Given the description of an element on the screen output the (x, y) to click on. 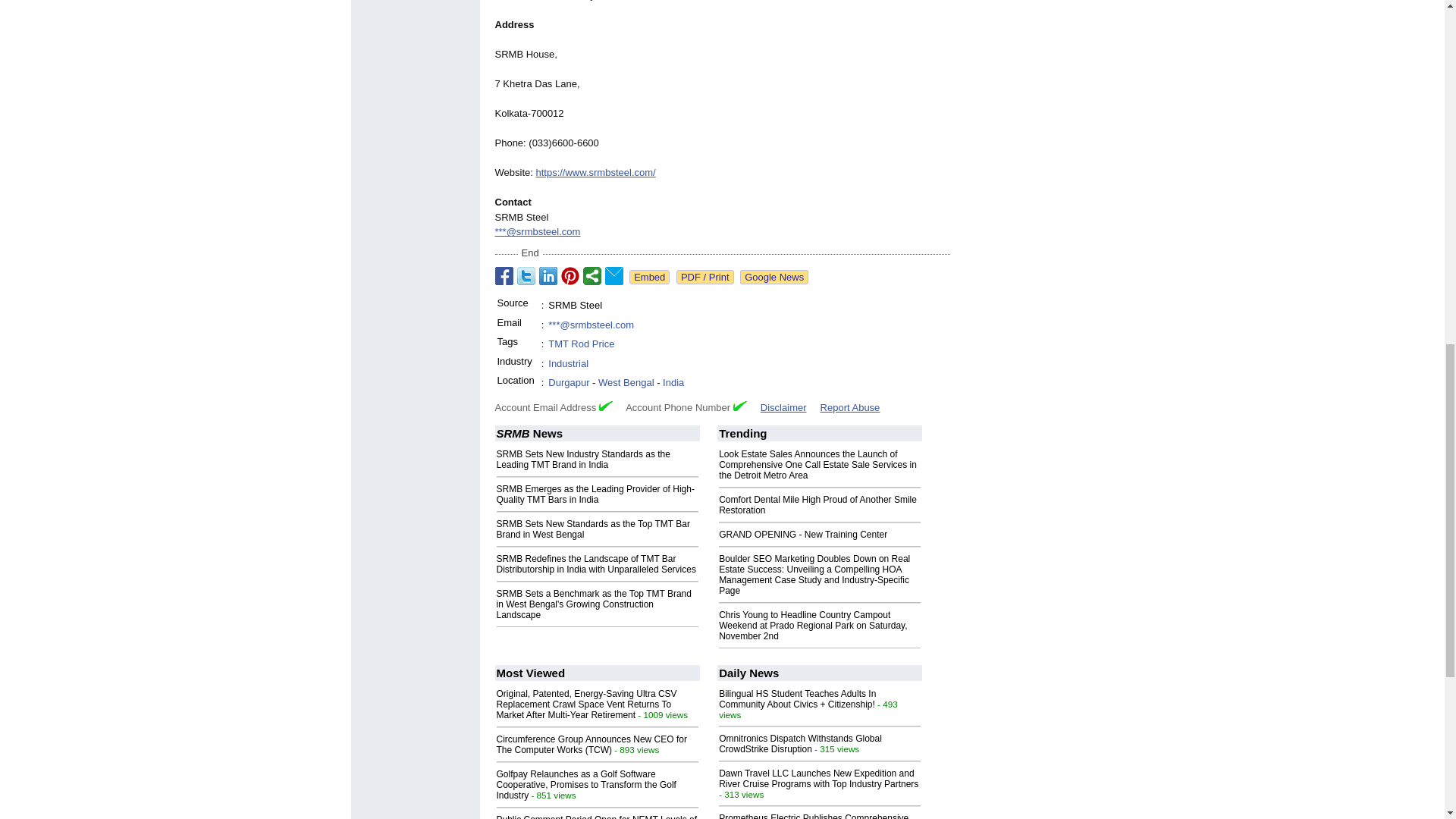
Verified (605, 406)
Embed (648, 277)
Share on Twitter (525, 275)
Verified (739, 406)
Embed this press release in your website! (648, 277)
Email to a Friend (614, 275)
Share on StumbleUpon, Digg, etc (590, 275)
Share on Facebook (503, 275)
See or print the PDF version! (705, 277)
Share on Pinterest (569, 275)
Share on LinkedIn (547, 275)
